Given the description of an element on the screen output the (x, y) to click on. 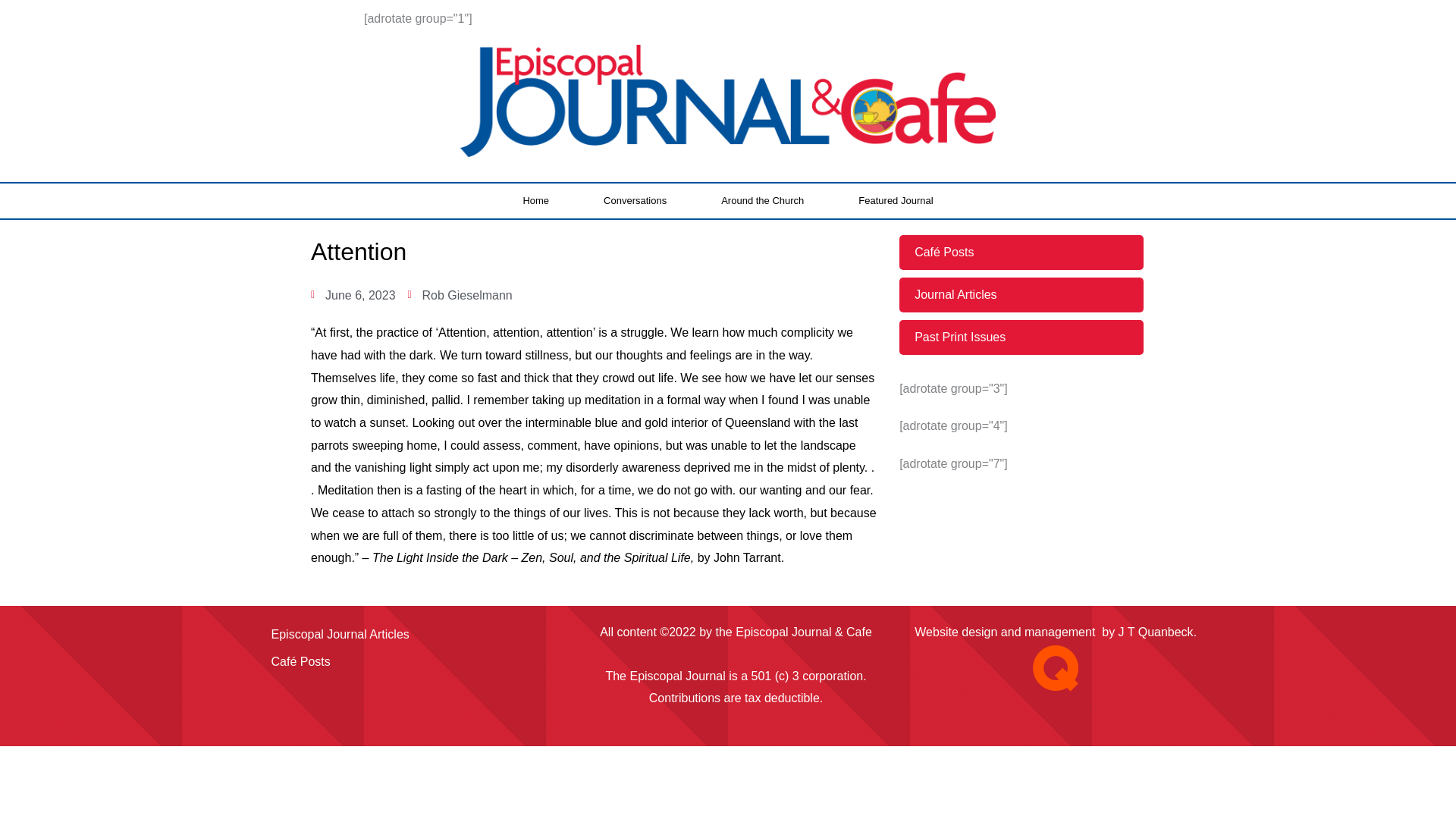
Conversations (635, 200)
Home (535, 200)
June 6, 2023 (353, 294)
Around the Church (762, 200)
J T Quanbeck (1155, 631)
Past Print Issues (1020, 337)
Featured Journal (895, 200)
Rob Gieselmann (459, 294)
Journal Articles (1020, 294)
Episcopal Journal Articles (408, 634)
